Given the description of an element on the screen output the (x, y) to click on. 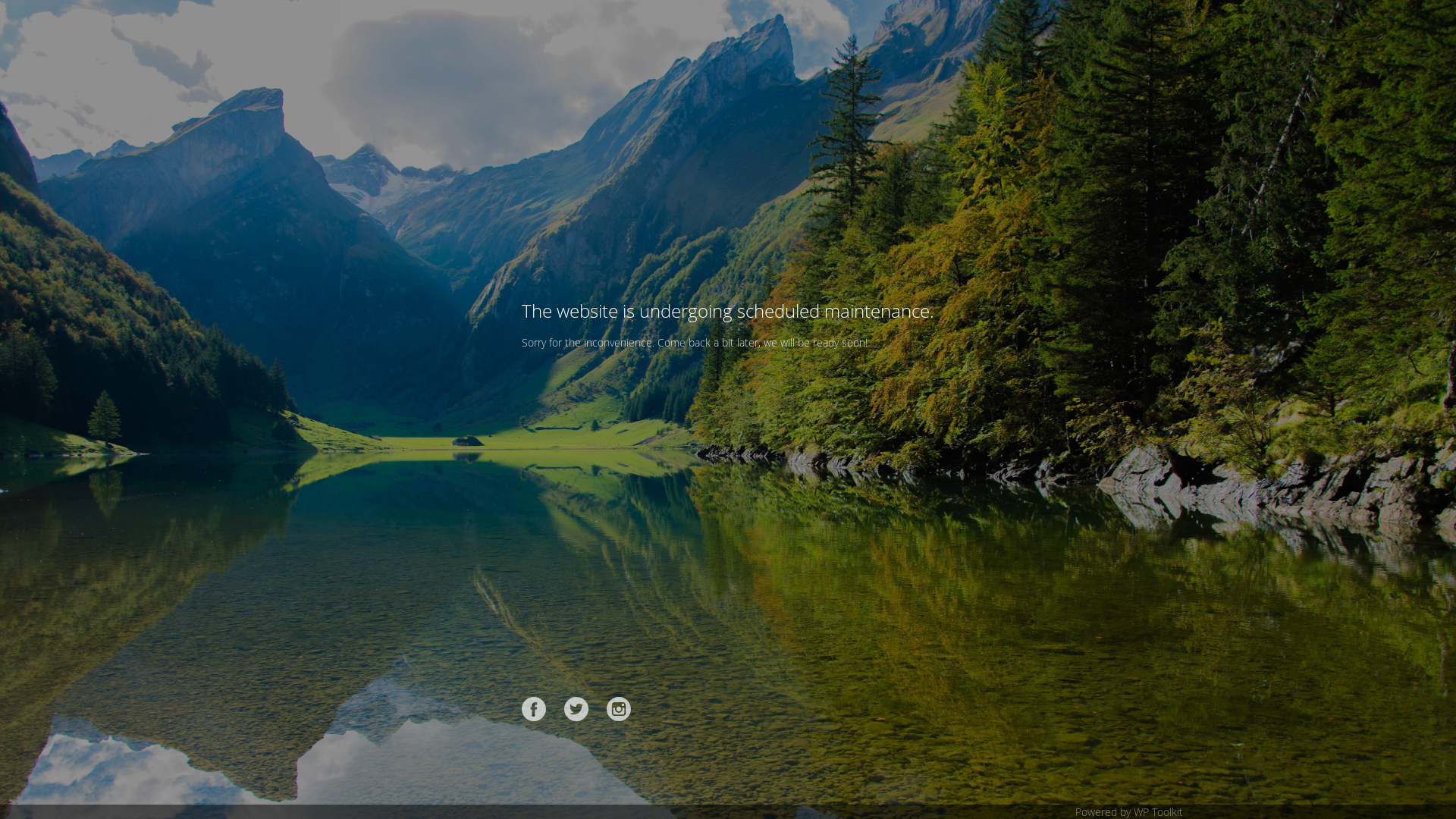
Twitter Element type: hover (576, 708)
Facebook Element type: hover (533, 708)
Instagram Element type: hover (618, 708)
